Given the description of an element on the screen output the (x, y) to click on. 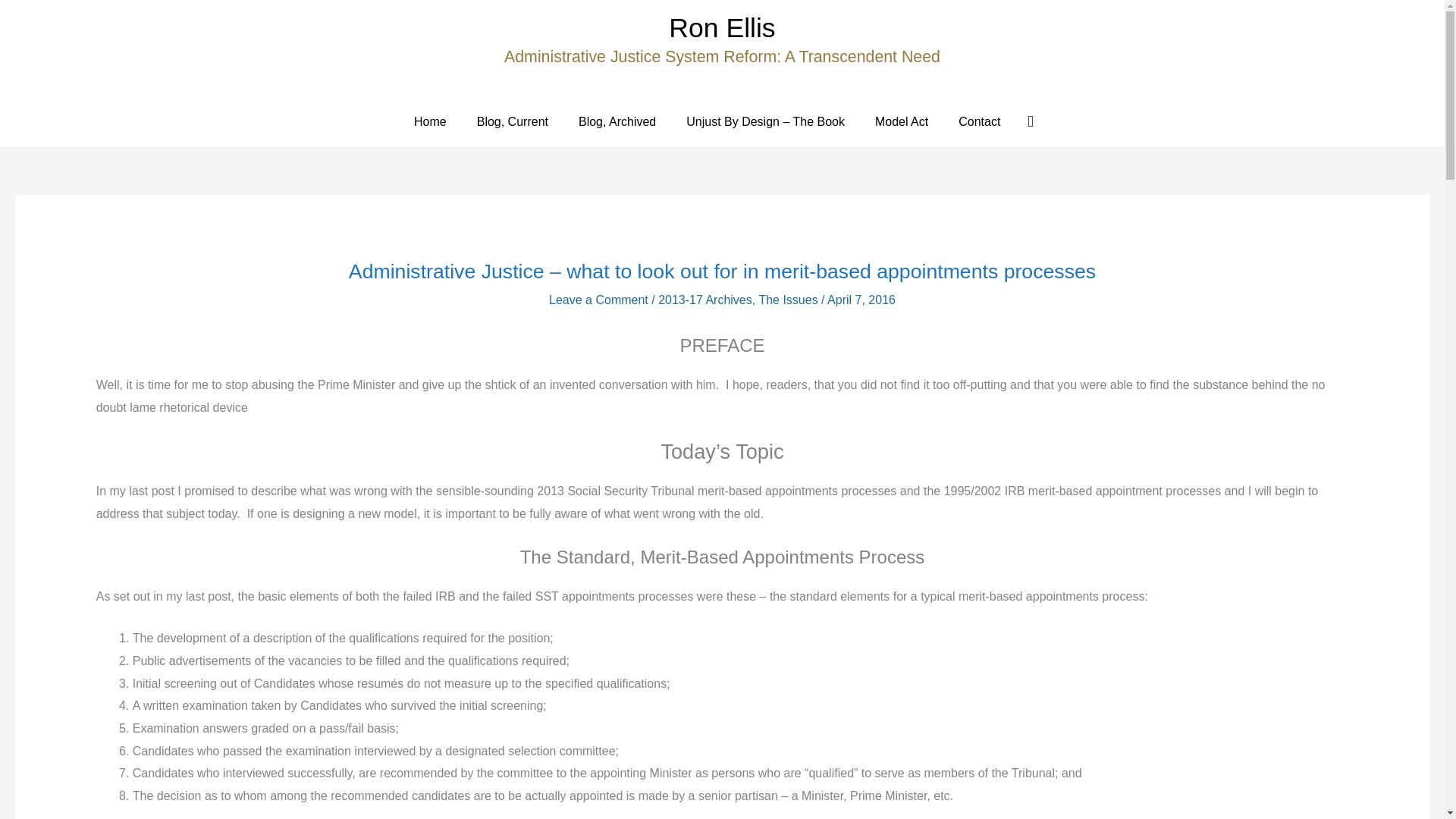
Model Act (901, 121)
Blog, Current (512, 121)
Home (429, 121)
The Issues (787, 299)
Ron Ellis (721, 28)
Blog, Archived (617, 121)
2013-17 Archives (705, 299)
Contact (978, 121)
Search (1030, 121)
Leave a Comment (597, 299)
